Given the description of an element on the screen output the (x, y) to click on. 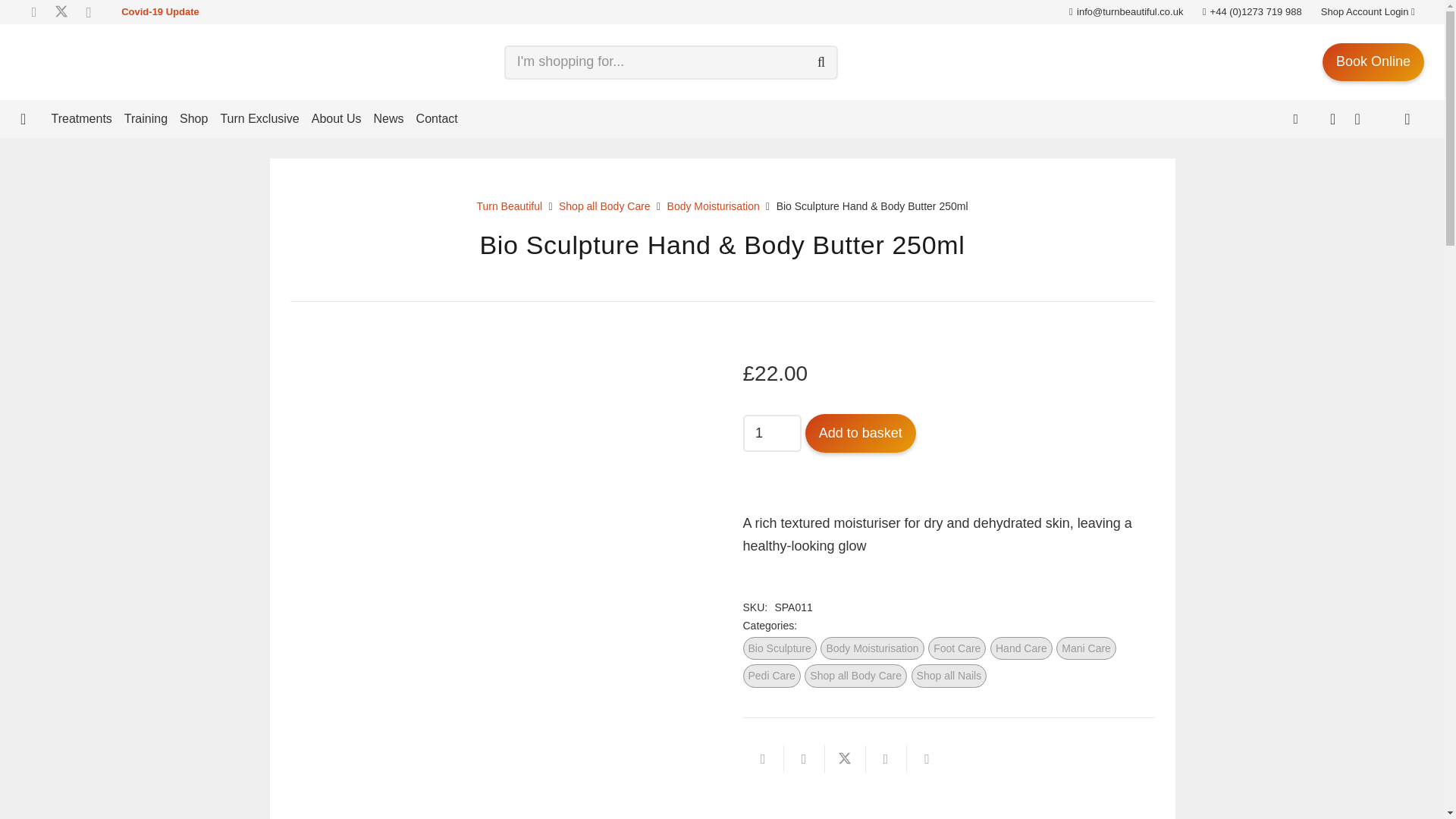
Facebook (34, 12)
Instagram (88, 12)
Tweet this (845, 759)
Pin this (886, 759)
1 (772, 433)
Treatments (81, 118)
Training (145, 118)
Share this (804, 759)
Covid-19 Update (159, 11)
Email this (763, 759)
